Given the description of an element on the screen output the (x, y) to click on. 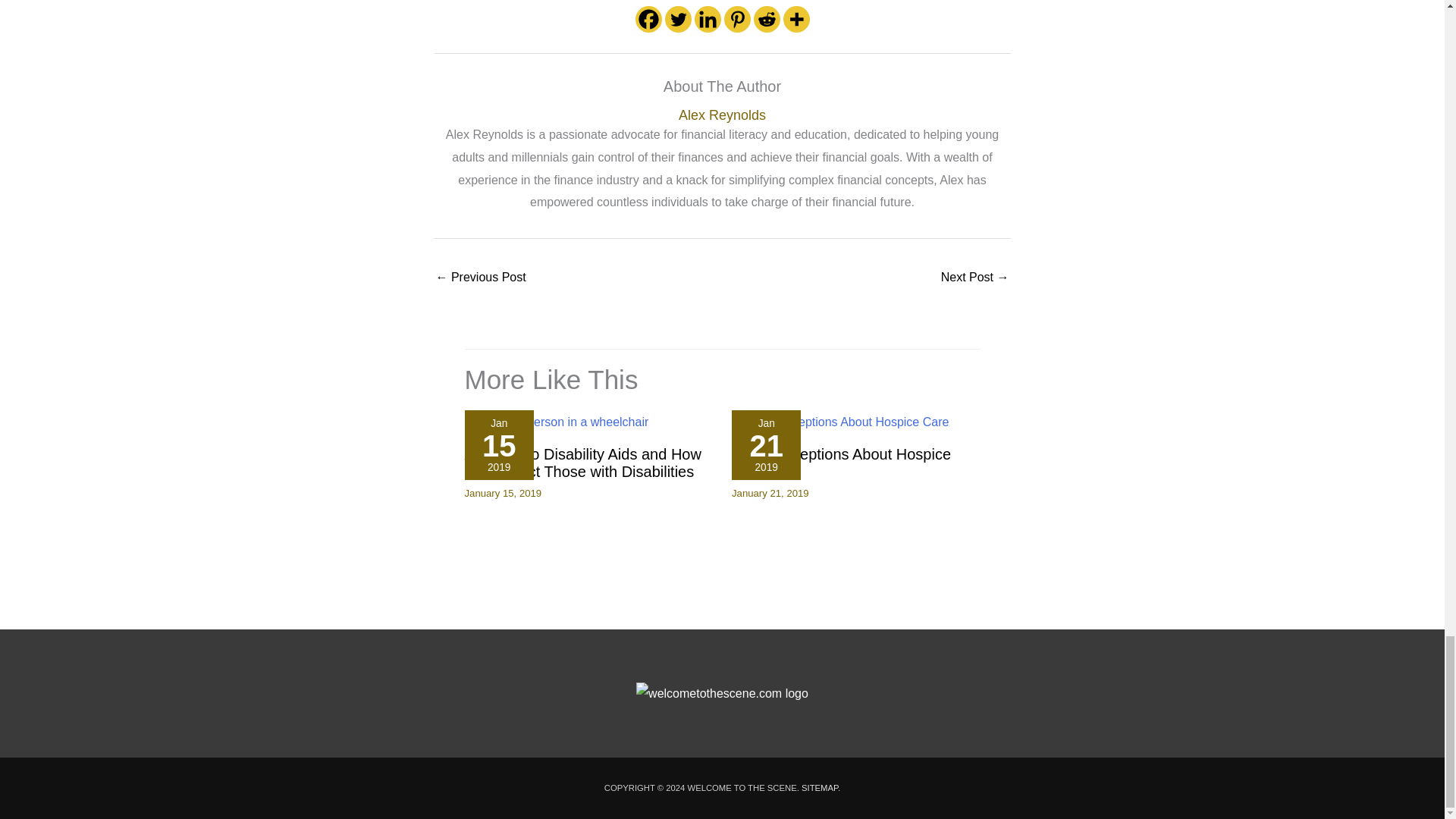
Reddit (767, 18)
5 Misconceptions About Hospice Care (841, 462)
Facebook (648, 18)
Linkedin (707, 18)
More (796, 18)
6 Ways To Market Your Swimwear Line (974, 278)
Alex Reynolds (721, 115)
Pinterest (736, 18)
Twitter (676, 18)
SITEMAP (820, 787)
